Given the description of an element on the screen output the (x, y) to click on. 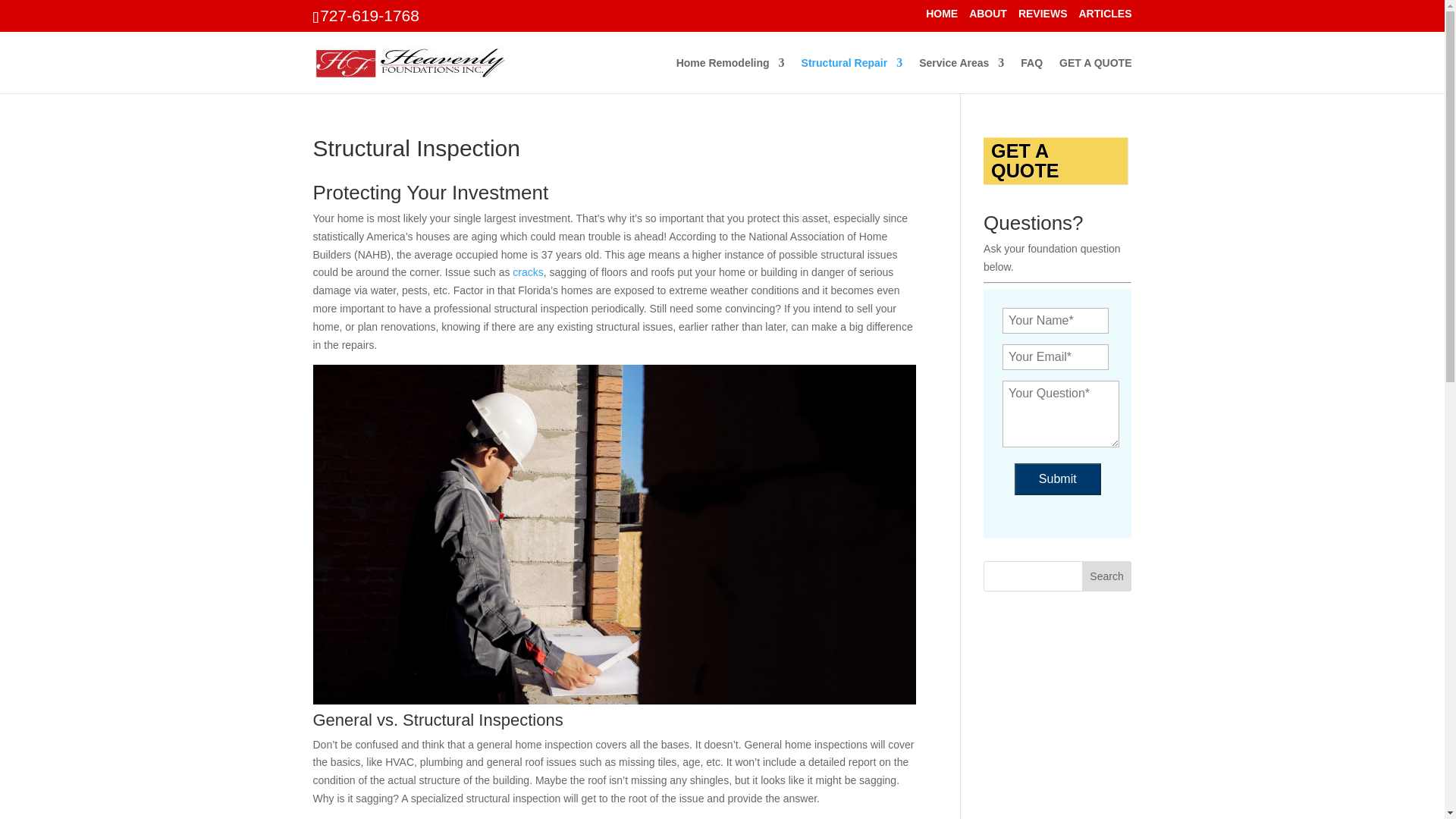
Structural Repair (852, 75)
HOME (942, 16)
Submit (1057, 479)
Service Areas (961, 75)
Search (1106, 576)
ARTICLES (1104, 16)
Home Remodeling (730, 75)
REVIEWS (1042, 16)
GET A QUOTE (1095, 75)
ABOUT (988, 16)
